Given the description of an element on the screen output the (x, y) to click on. 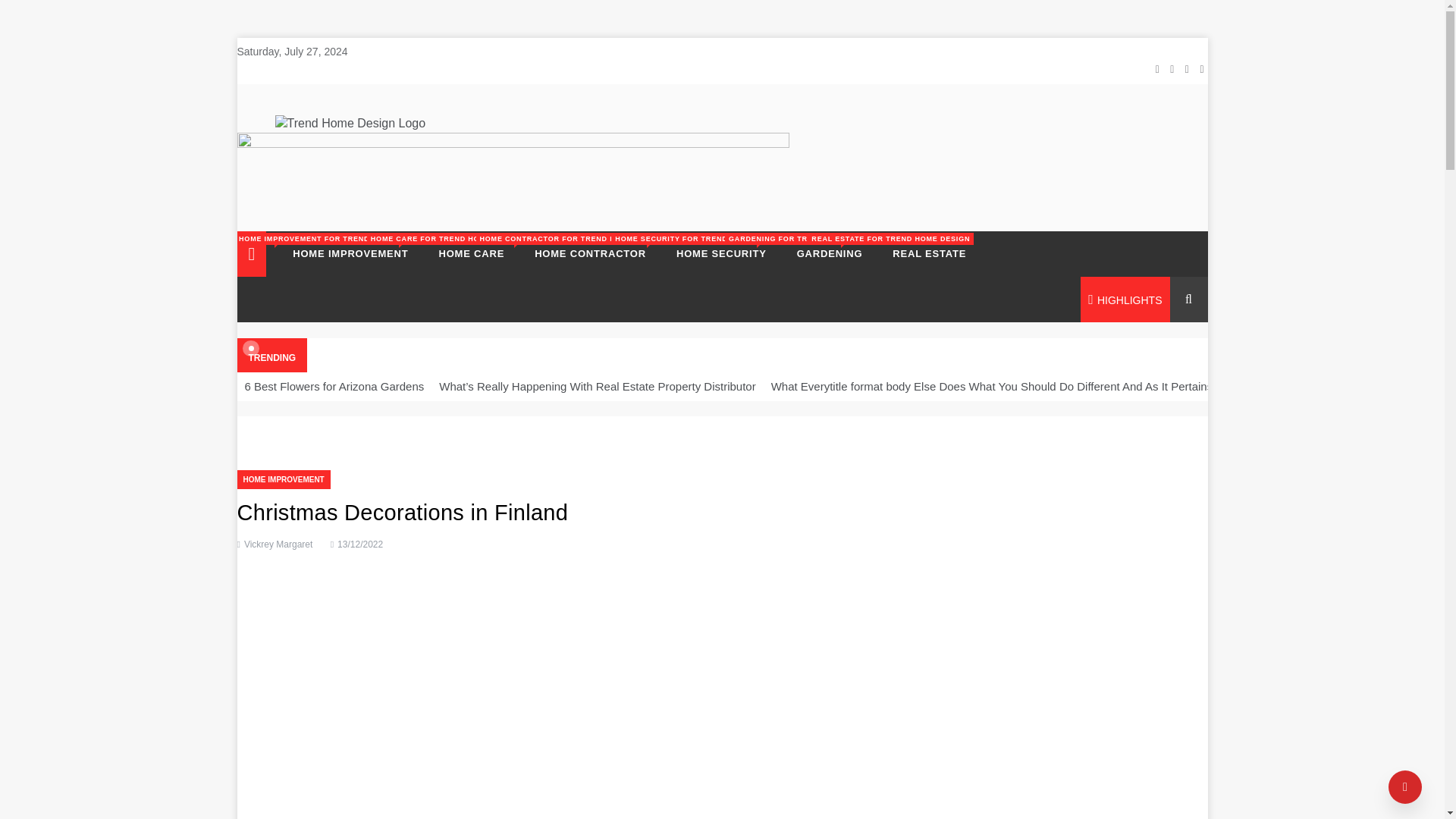
6 Best Flowers for Arizona Gardens (921, 253)
Vickrey Margaret (590, 253)
Christmas Decorations in Finland (332, 386)
HOME IMPROVEMENT (350, 253)
HIGHLIGHTS (471, 253)
Trend Home Design (278, 543)
